Given the description of an element on the screen output the (x, y) to click on. 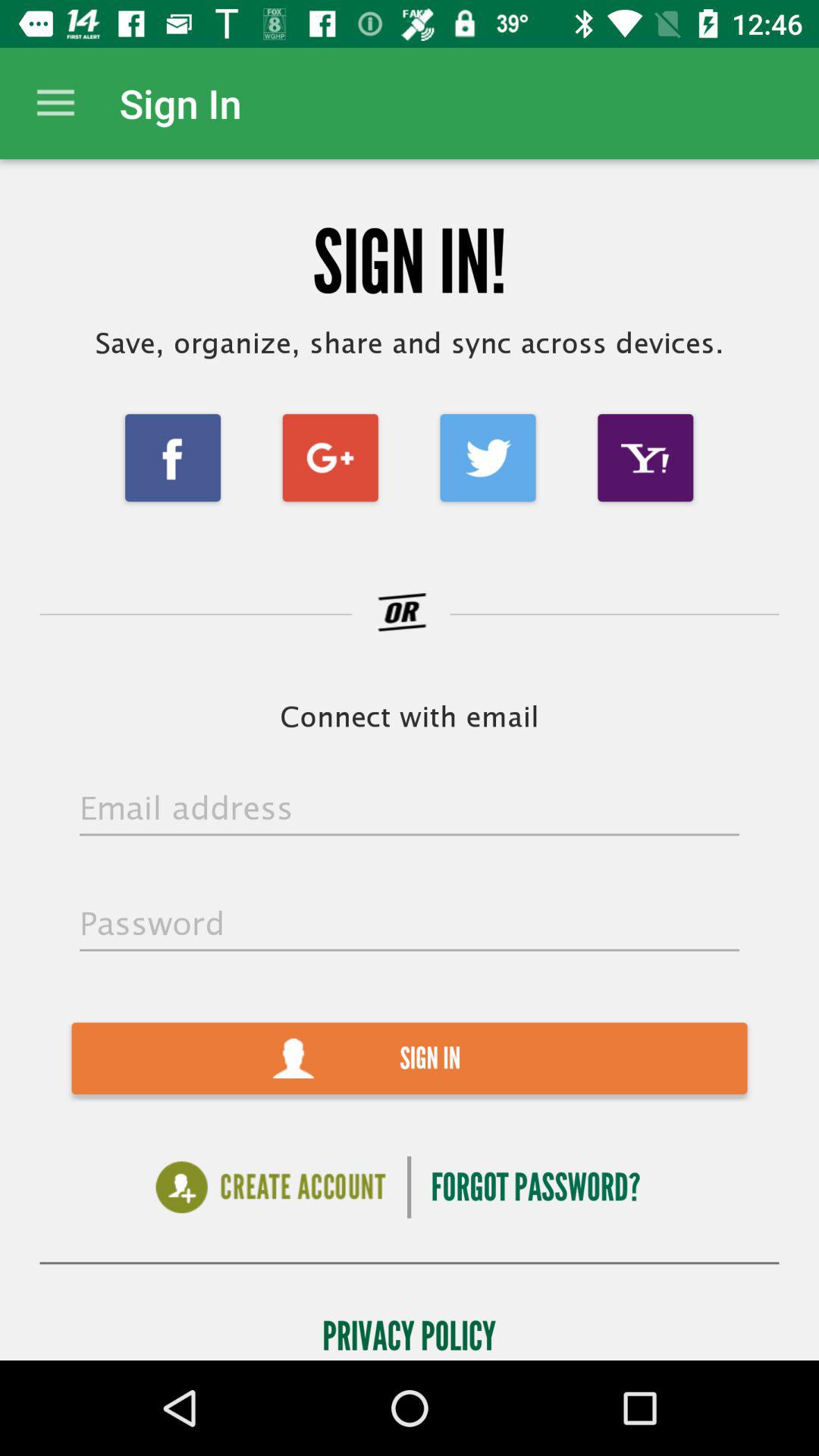
turn off the icon above the sign in! item (55, 103)
